Given the description of an element on the screen output the (x, y) to click on. 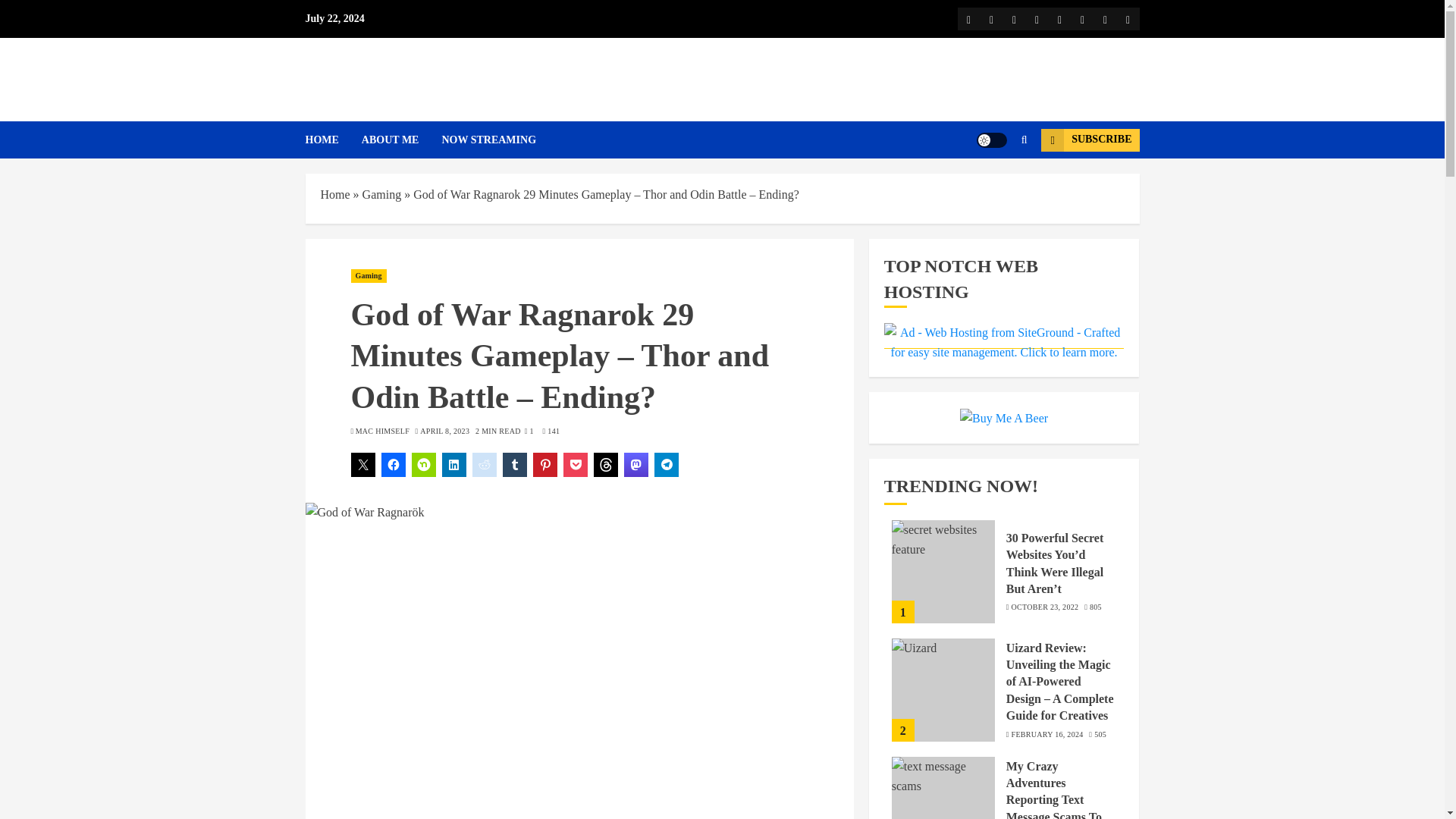
Click to share on Reddit (483, 464)
141 (551, 430)
Tumblr (1081, 18)
Click to share on LinkedIn (453, 464)
Gaming (367, 275)
Click to share on Facebook (392, 464)
HOME (332, 139)
APRIL 8, 2023 (444, 430)
Mastodon.social (1104, 18)
Click to share on Telegram (665, 464)
Click to share on Tumblr (513, 464)
Gaming (381, 194)
Home (334, 194)
Search (994, 185)
Click to share on Threads (604, 464)
